Given the description of an element on the screen output the (x, y) to click on. 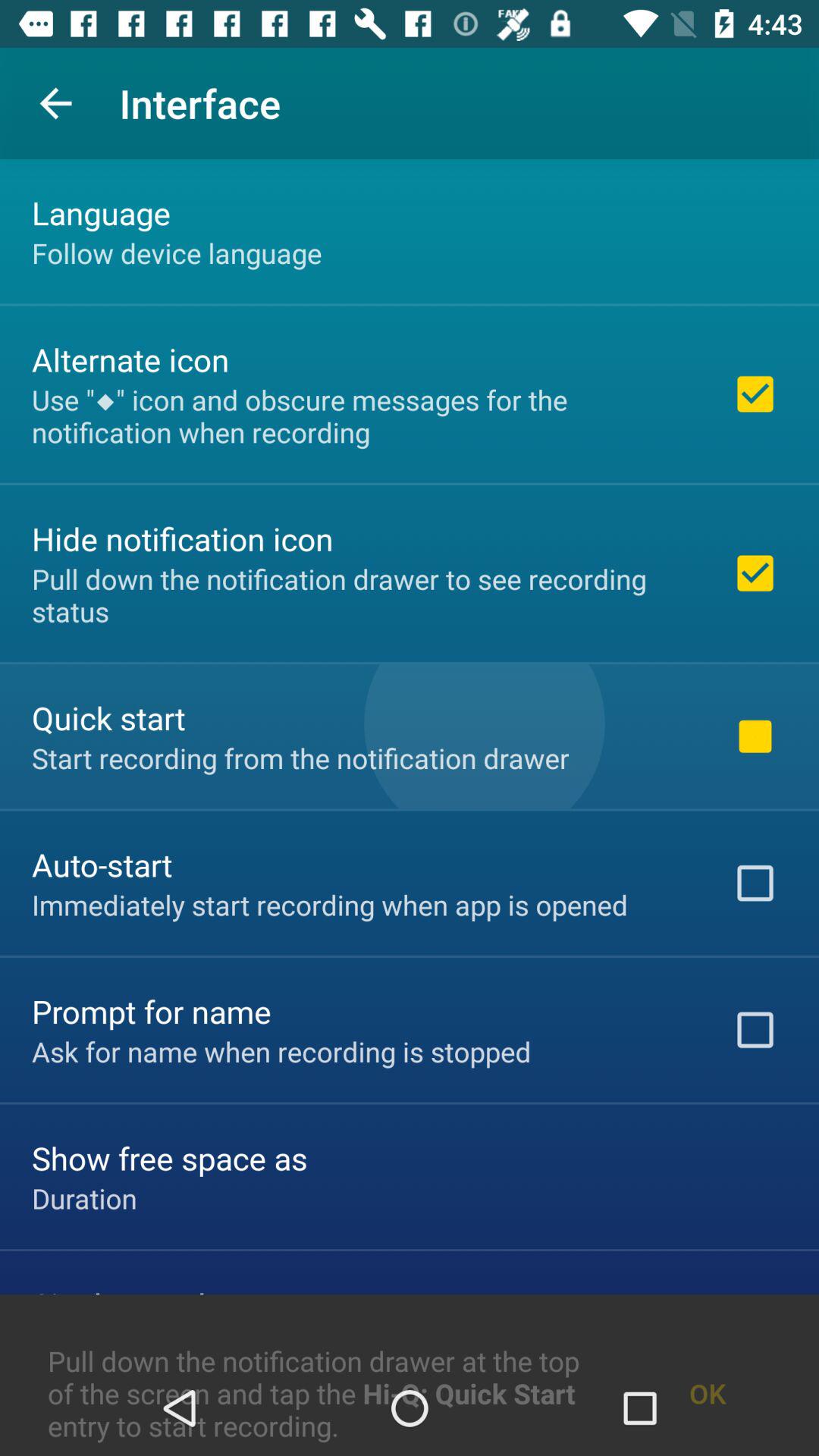
jump until show free space item (169, 1157)
